Given the description of an element on the screen output the (x, y) to click on. 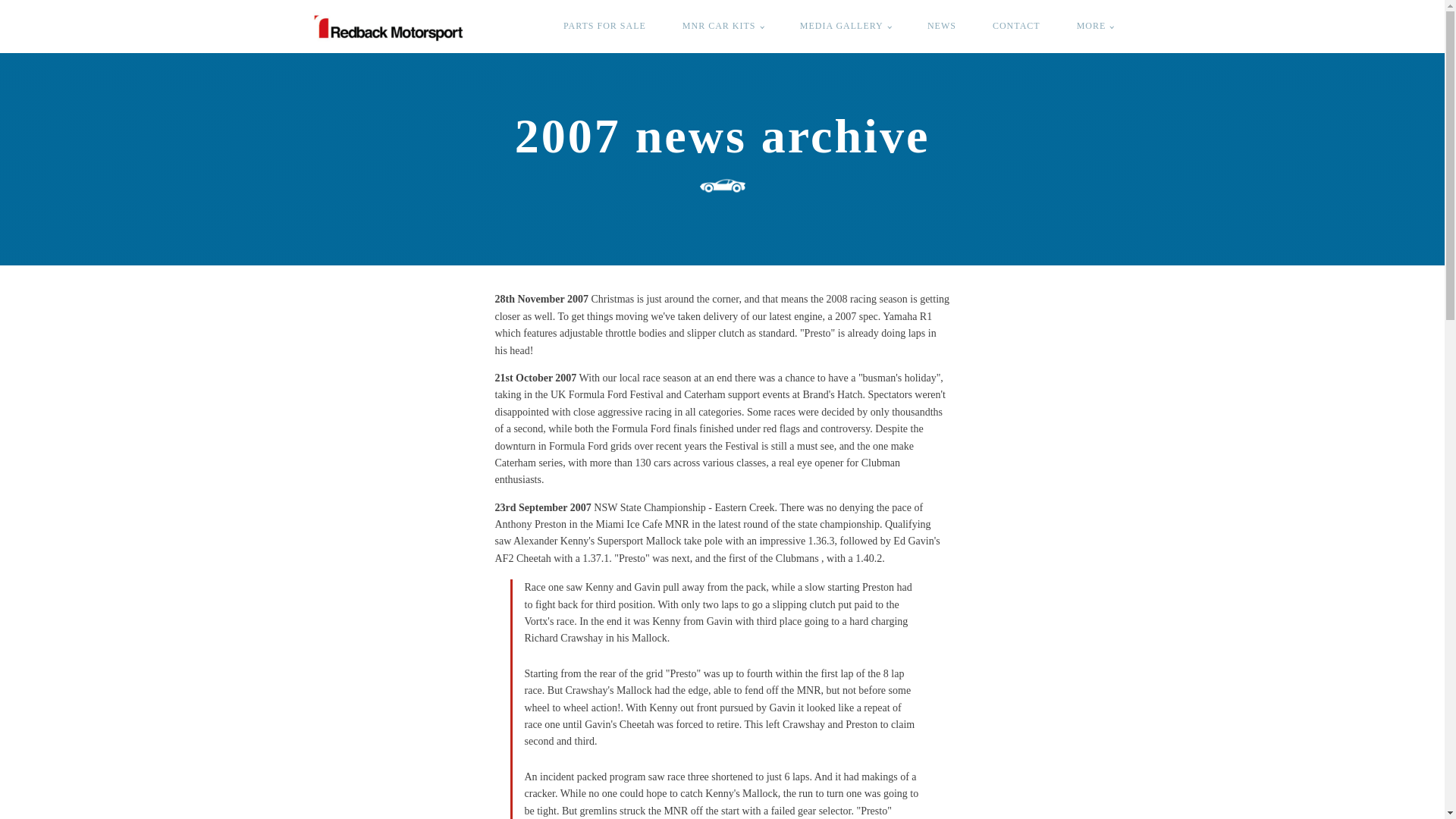
CONTACT (1016, 25)
NEWS (941, 25)
MORE (1095, 25)
PARTS FOR SALE (603, 25)
MEDIA GALLERY (844, 25)
MNR CAR KITS (722, 25)
